Given the description of an element on the screen output the (x, y) to click on. 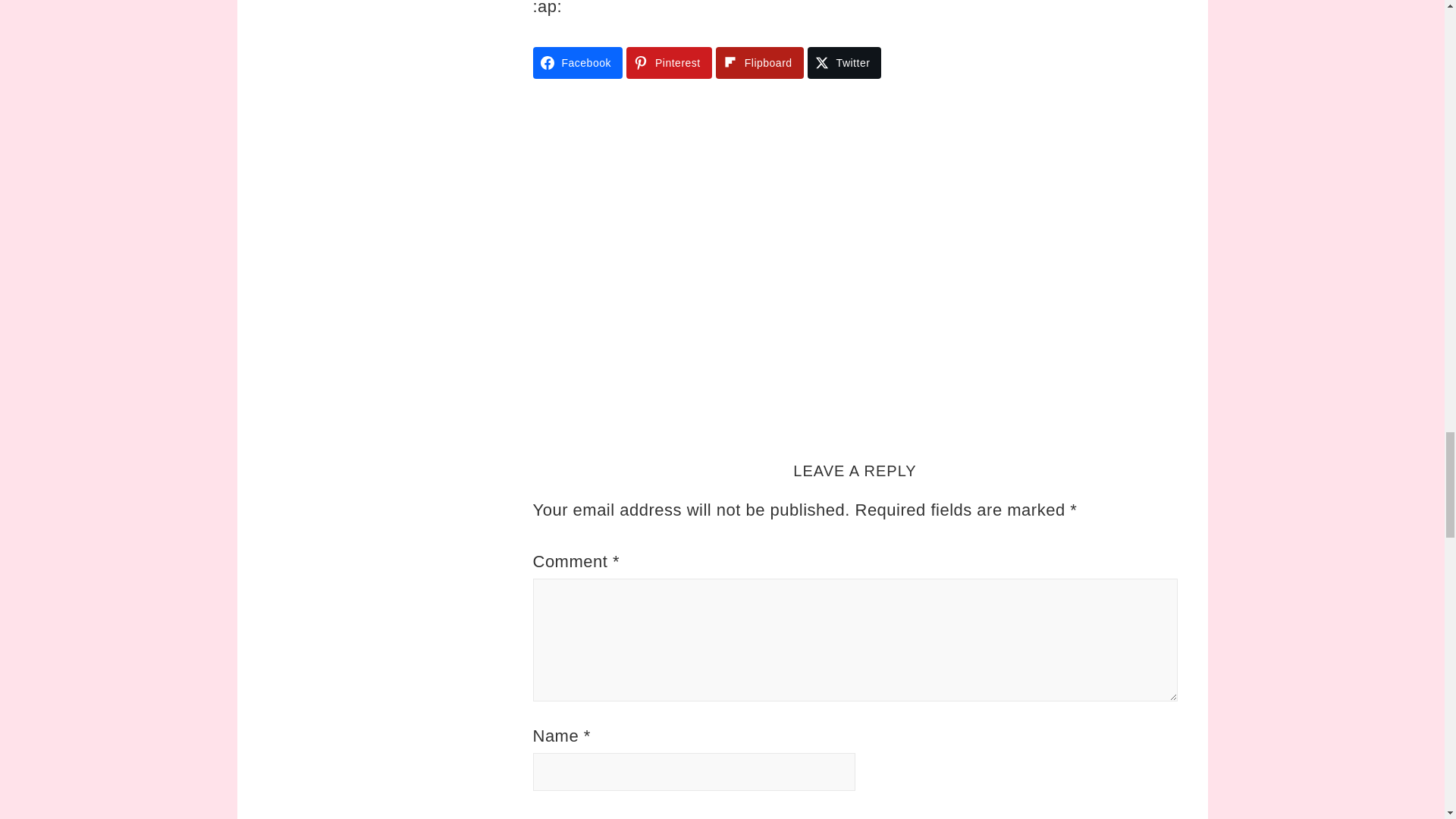
Pinterest (668, 62)
Share on Flipboard (759, 62)
Facebook (576, 62)
Share on Facebook (576, 62)
Share on Pinterest (668, 62)
Twitter (845, 62)
Flipboard (759, 62)
Share on Twitter (845, 62)
